Given the description of an element on the screen output the (x, y) to click on. 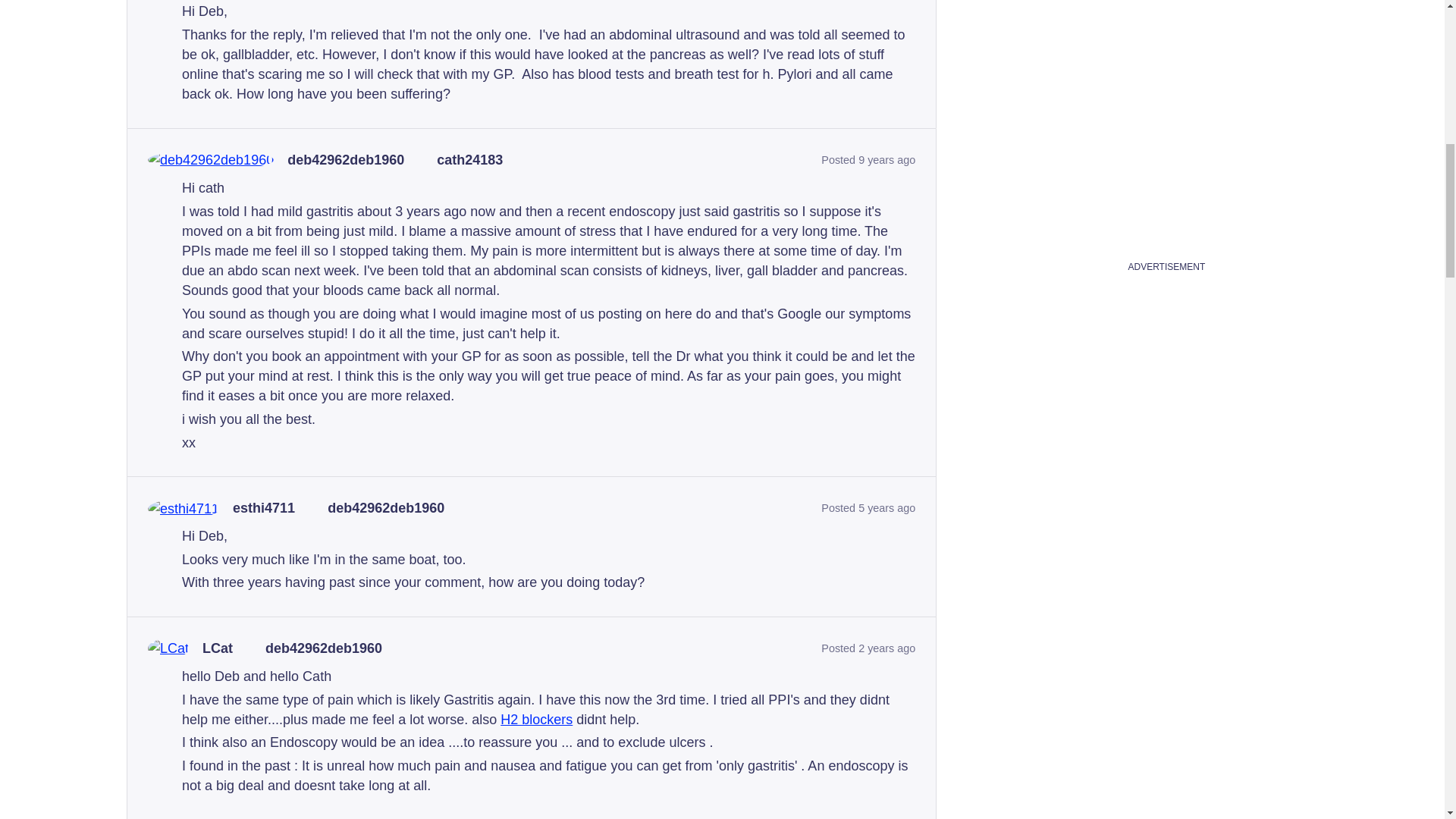
View esthi4711's profile (263, 508)
esthi4711 (263, 508)
H2 blockers (536, 719)
LCat (217, 648)
deb42962deb1960 (385, 508)
View LCat's profile (217, 648)
deb42962deb1960 (345, 160)
cath24183 (469, 160)
deb42962deb1960 (322, 648)
View deb42962deb1960's profile (345, 160)
